Given the description of an element on the screen output the (x, y) to click on. 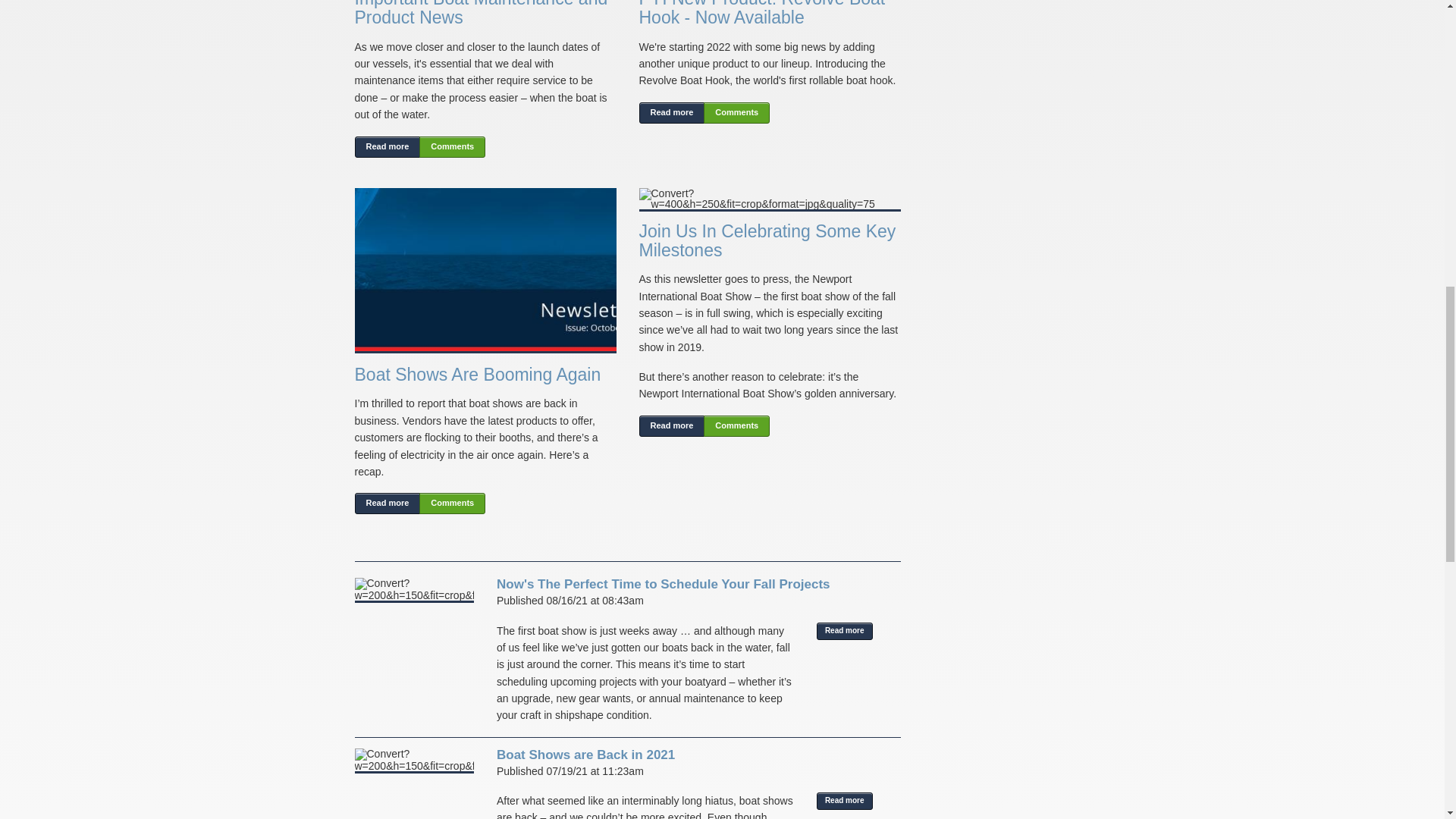
Read about Boat Shows Are Booming Again (451, 503)
Read PYI New Product: Revolve Boat Hook - Now Available (762, 13)
Read Boat Shows Are Booming Again (478, 374)
Read about Join Us In Celebrating Some Key Milestones (736, 425)
Read about Important Boat Maintenance and Product News (451, 147)
Read about Boat Shows Are Booming Again (387, 503)
Read Join Us In Celebrating Some Key Milestones (767, 240)
Read about Join Us In Celebrating Some Key Milestones (671, 425)
